Given the description of an element on the screen output the (x, y) to click on. 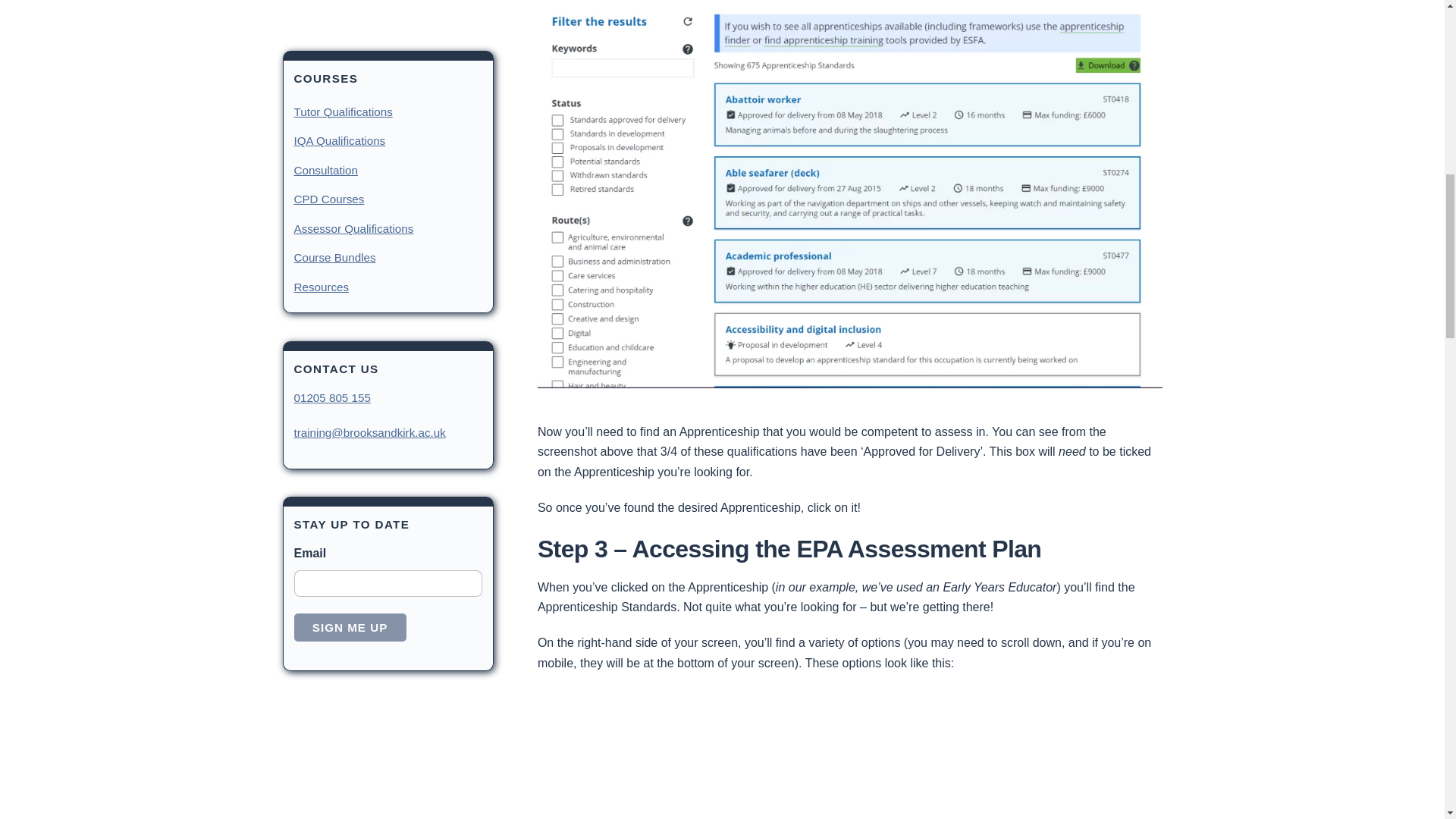
early years side options - Brooks and Kirk (685, 754)
SIGN ME UP (350, 10)
